Given the description of an element on the screen output the (x, y) to click on. 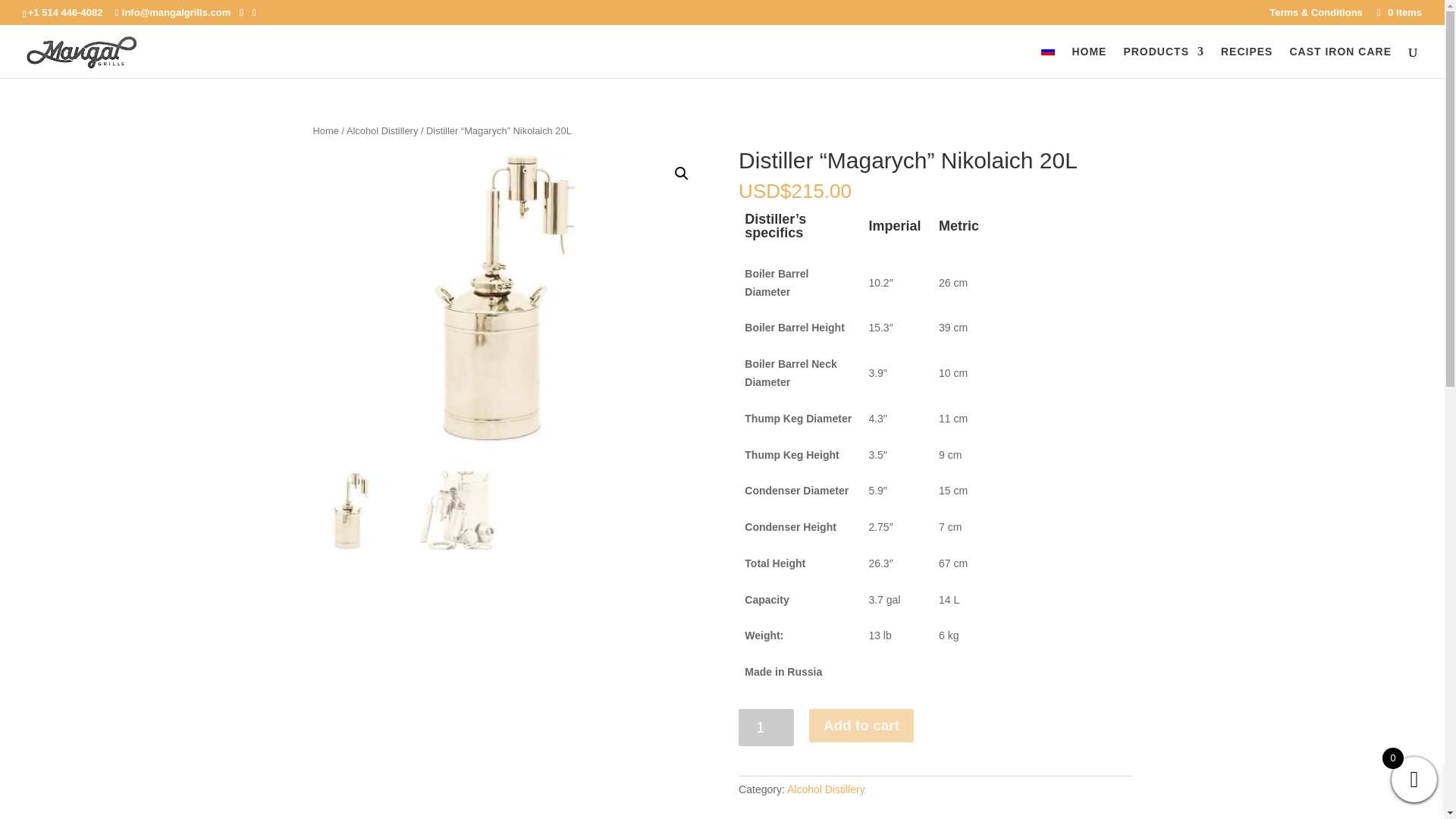
Home (325, 129)
CAST IRON CARE (1339, 60)
1 (765, 727)
1 (508, 297)
RECIPES (1246, 60)
HOME (1088, 60)
PRODUCTS (1163, 60)
Alcohol Distillery (381, 129)
0 Items (1398, 12)
